Given the description of an element on the screen output the (x, y) to click on. 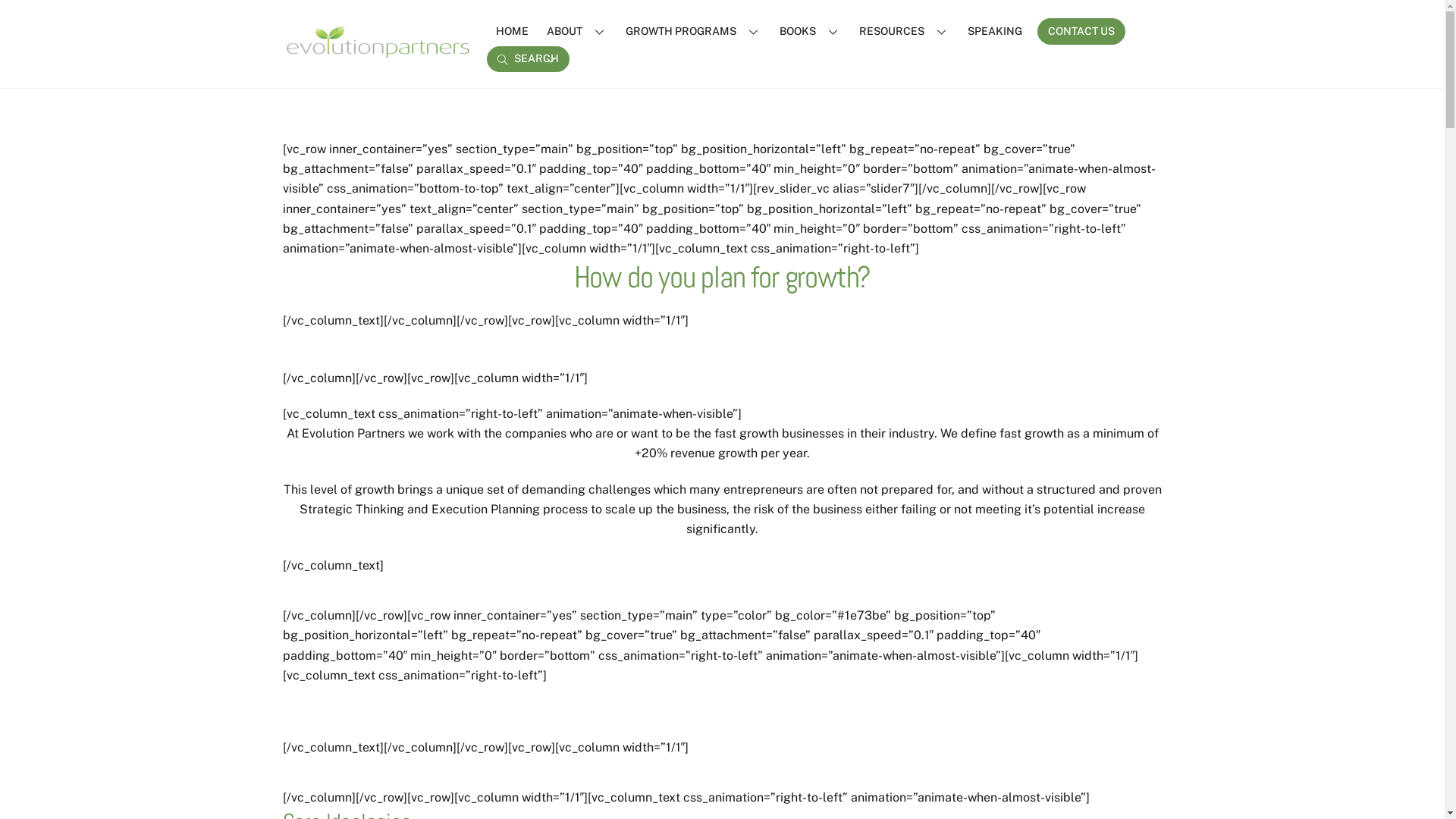
GROWTH PROGRAMS Element type: text (693, 30)
CONTACT US Element type: text (1081, 31)
BOOKS Element type: text (810, 30)
ABOUT Element type: text (576, 30)
RESOURCES Element type: text (904, 30)
Evolution Partners Element type: hover (376, 41)
SEARCH Element type: text (527, 58)
Evolution Partners Element type: hover (376, 52)
SPEAKING Element type: text (994, 30)
HOME Element type: text (511, 30)
